Given the description of an element on the screen output the (x, y) to click on. 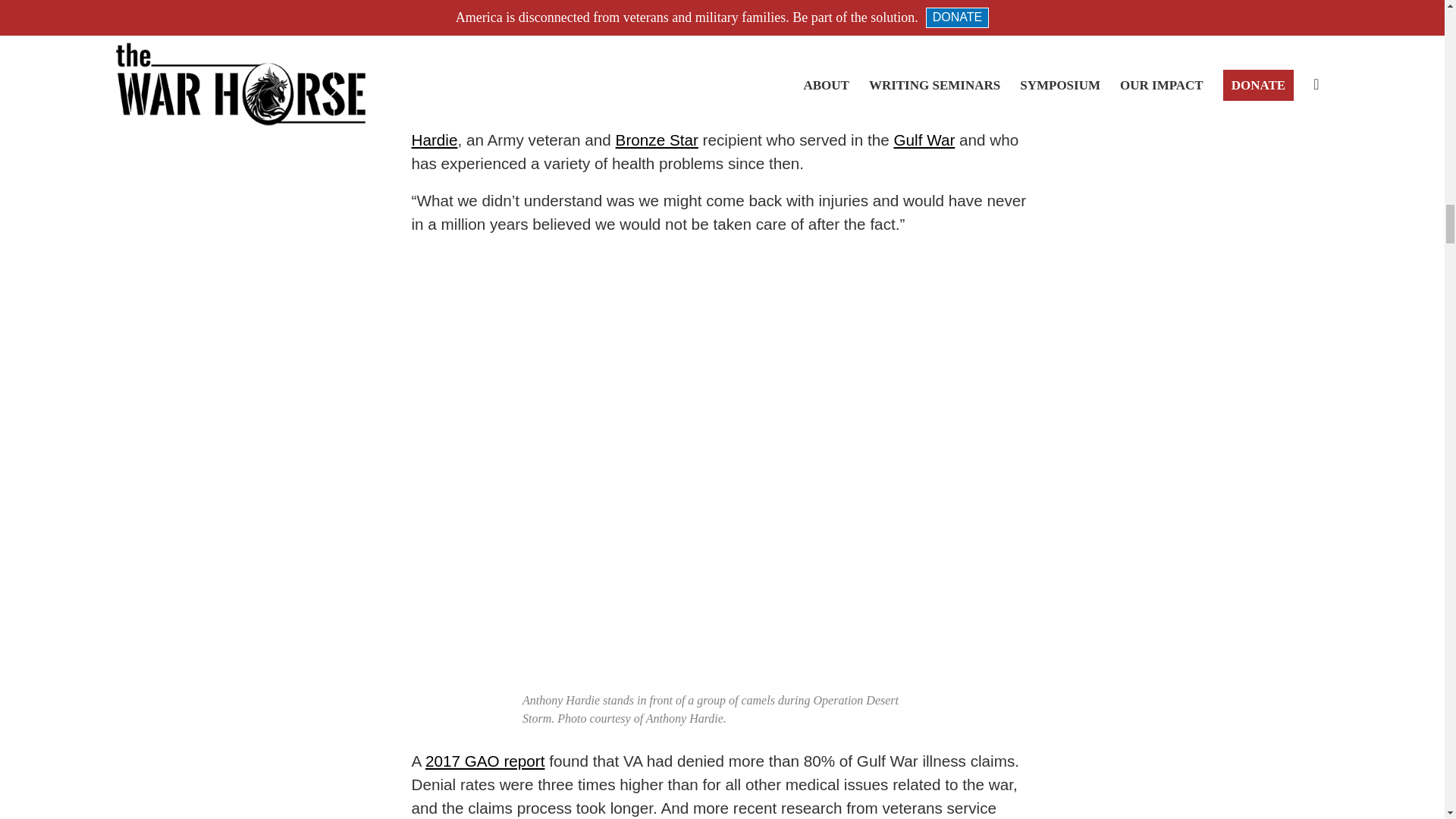
Gulf War (924, 139)
Bronze Star (656, 139)
Anthony Hardie (700, 127)
2017 GAO report (484, 760)
